Given the description of an element on the screen output the (x, y) to click on. 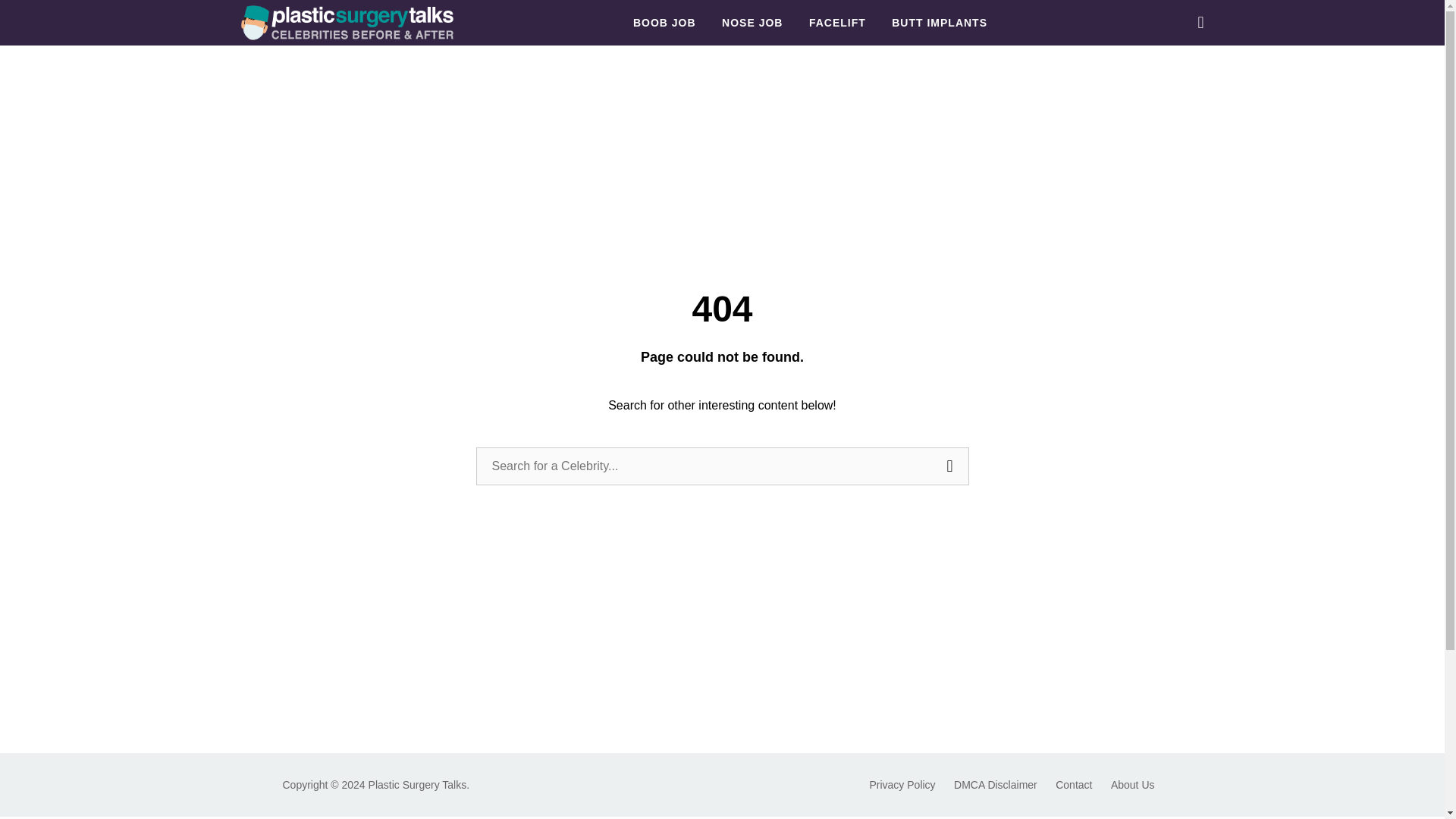
NOSE JOB (752, 22)
Contact (1073, 784)
BUTT IMPLANTS (939, 22)
Privacy Policy (901, 784)
FACELIFT (837, 22)
BOOB JOB (664, 22)
DMCA Disclaimer (994, 784)
About Us (1132, 784)
Search (950, 466)
